Given the description of an element on the screen output the (x, y) to click on. 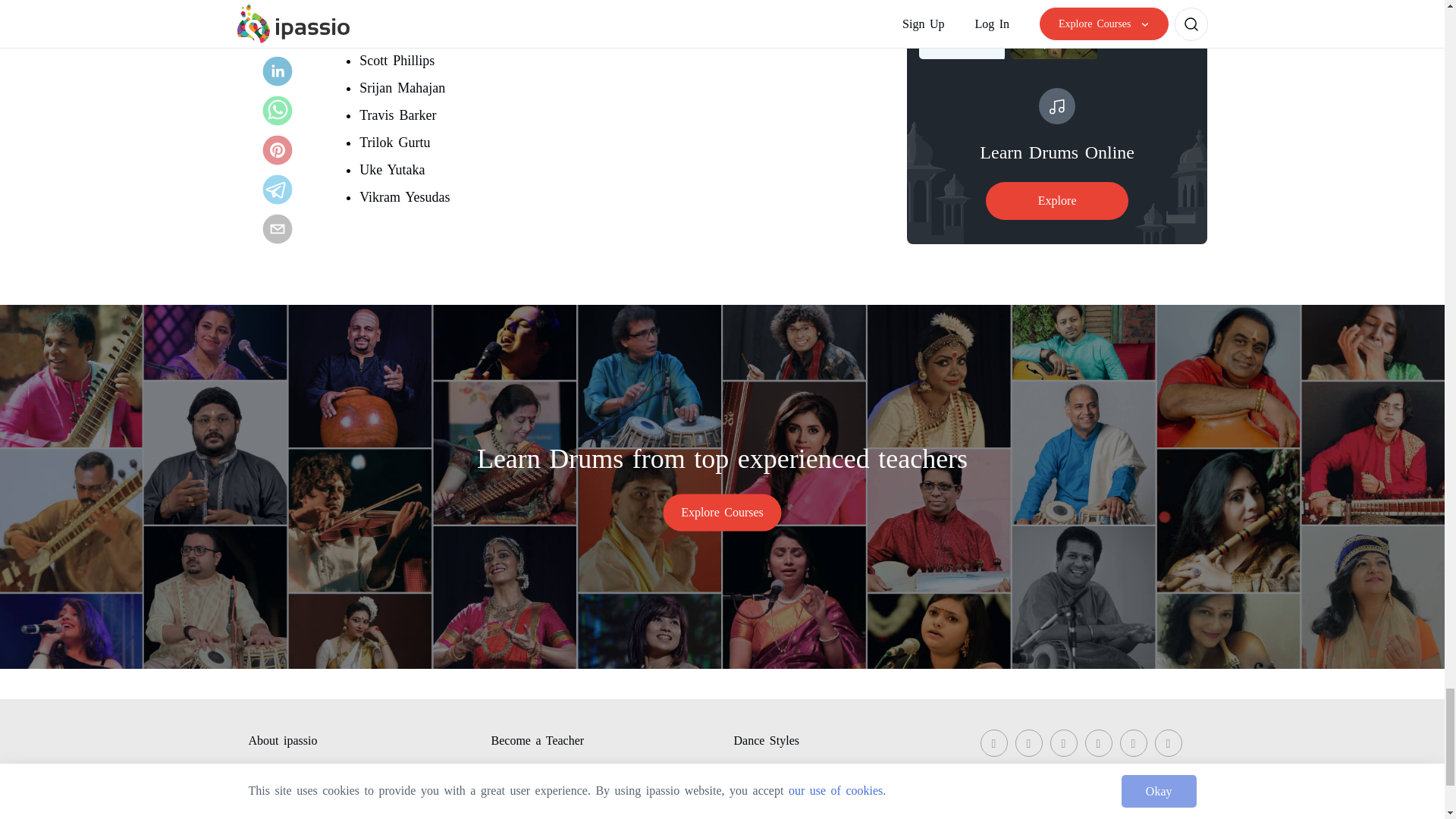
Press Release (282, 815)
Student Sign Up (533, 770)
View his course (524, 32)
Blogs (262, 798)
Member Protection Program (562, 798)
About ipassio (282, 742)
Explore Courses (721, 511)
Become a Teacher (538, 742)
Contact Us (519, 815)
ipassio Wiki (279, 770)
